Given the description of an element on the screen output the (x, y) to click on. 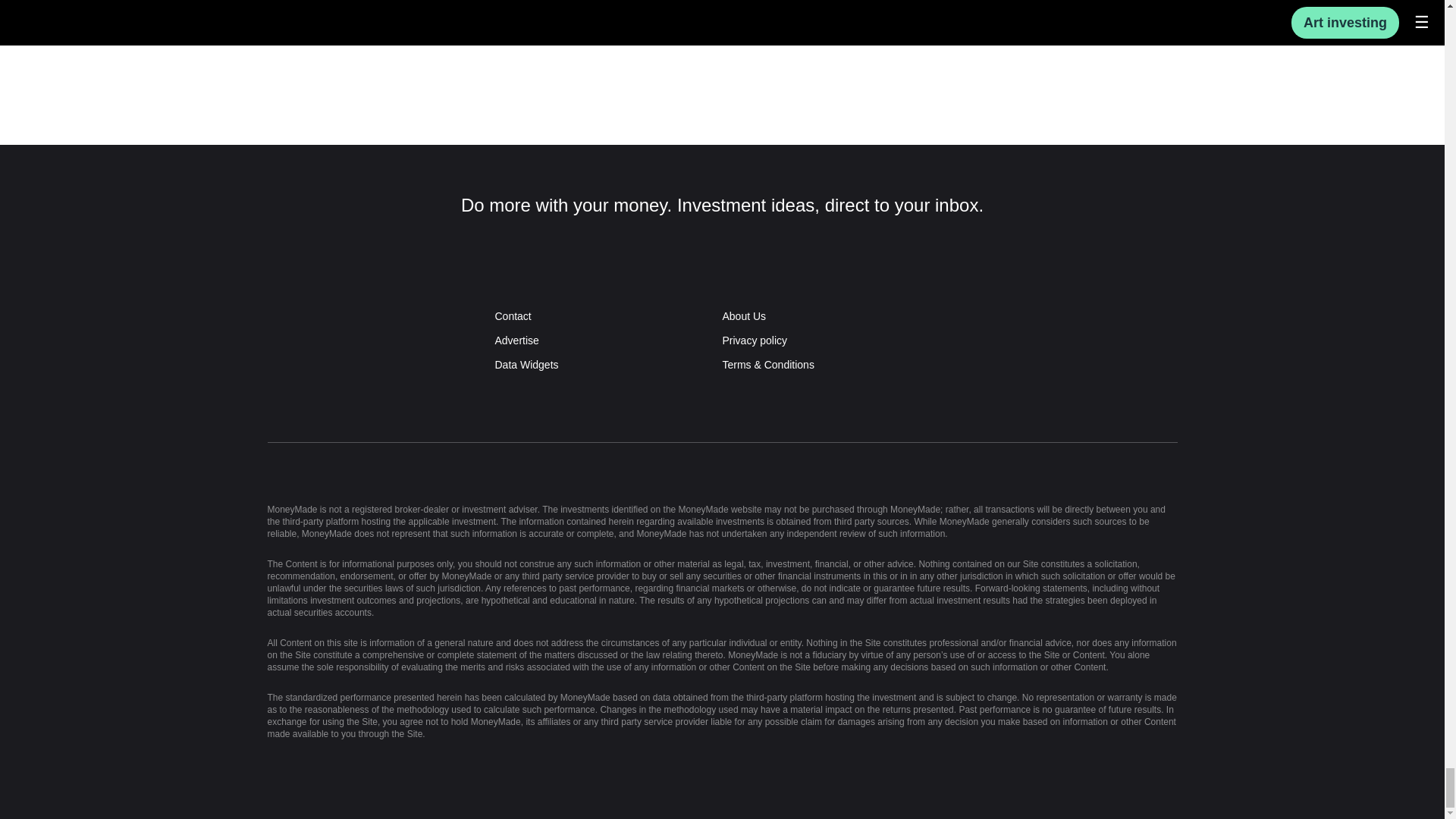
About Us (835, 315)
Privacy policy (835, 340)
Data Widgets (608, 364)
Contact (608, 315)
Advertise (608, 340)
